Given the description of an element on the screen output the (x, y) to click on. 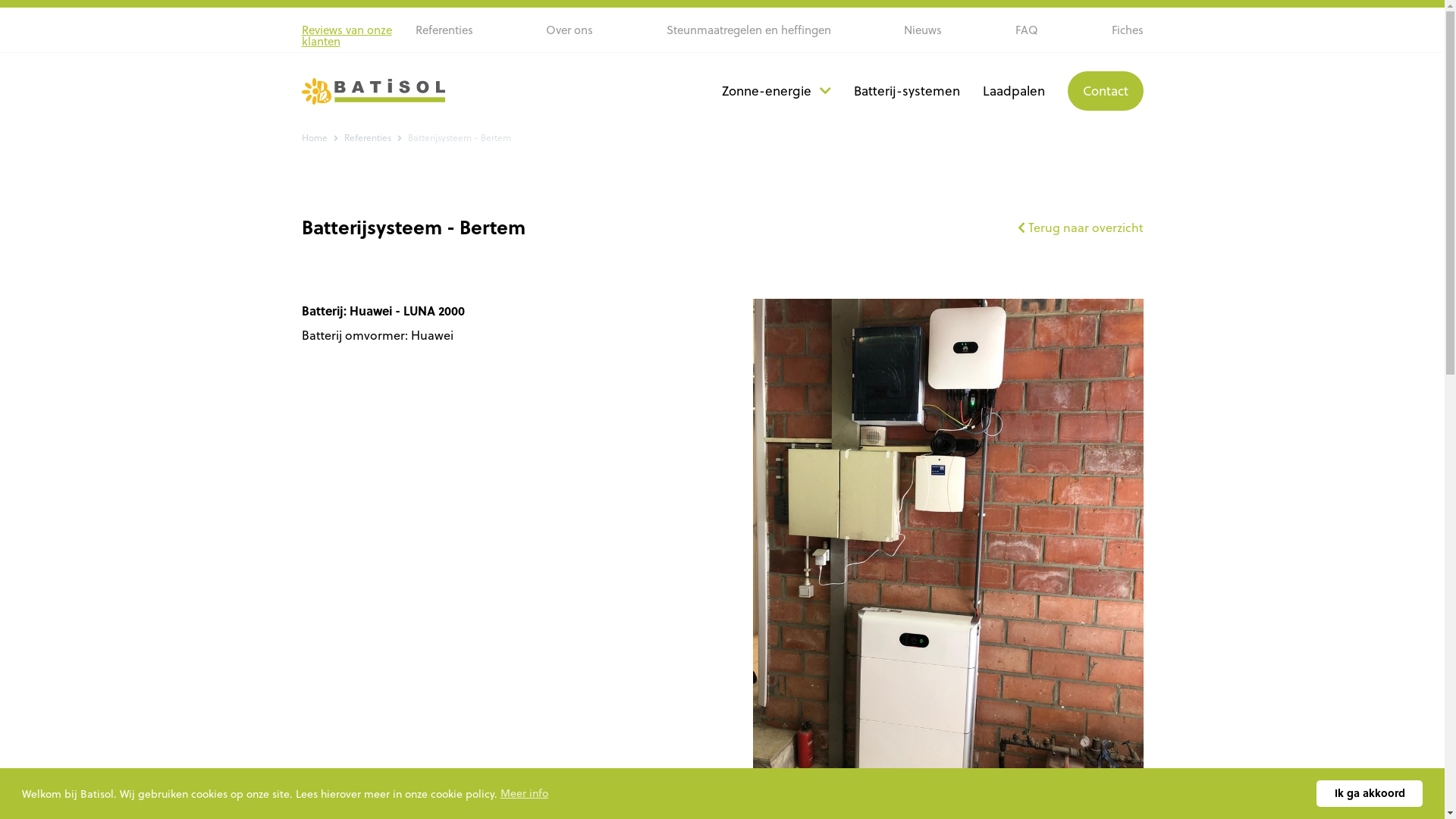
Referenties Element type: text (367, 137)
Nieuws Element type: text (922, 29)
Steunmaatregelen en heffingen Element type: text (748, 29)
Reviews van onze klanten Element type: text (358, 35)
Zonne-energie Element type: text (776, 90)
Batterij-systemen Element type: text (906, 90)
Terug naar overzicht Element type: text (1080, 226)
Over ons Element type: text (569, 29)
Meer info Element type: text (525, 793)
Home Element type: text (314, 137)
Contact Element type: text (1105, 90)
Referenties Element type: text (444, 29)
Fiches Element type: text (1127, 29)
Laadpalen Element type: text (1013, 90)
FAQ Element type: text (1026, 29)
Ik ga akkoord Element type: text (1369, 793)
